Given the description of an element on the screen output the (x, y) to click on. 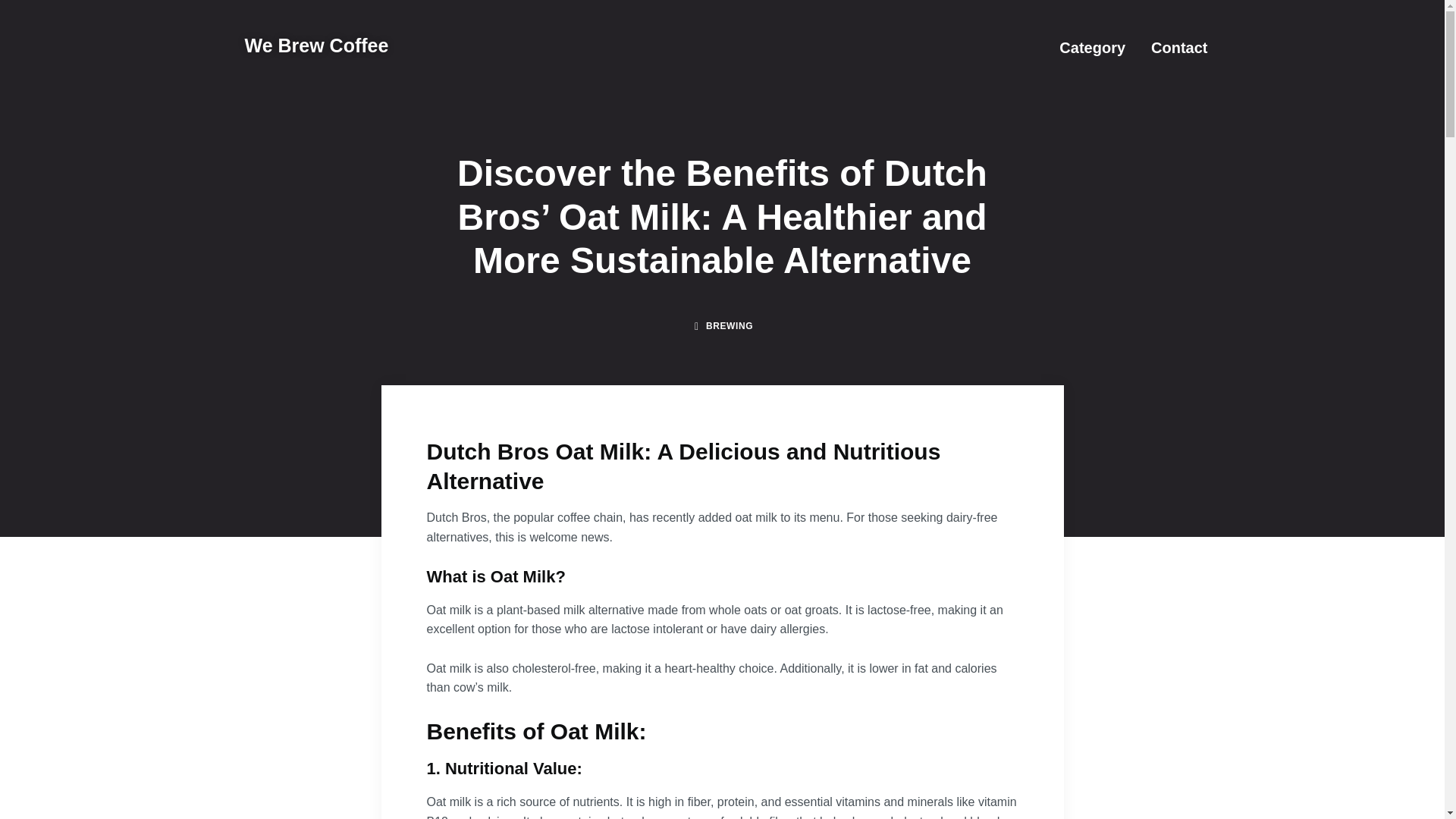
We Brew Coffee (316, 45)
Contact (1179, 47)
Category (1092, 47)
BREWING (729, 326)
